Given the description of an element on the screen output the (x, y) to click on. 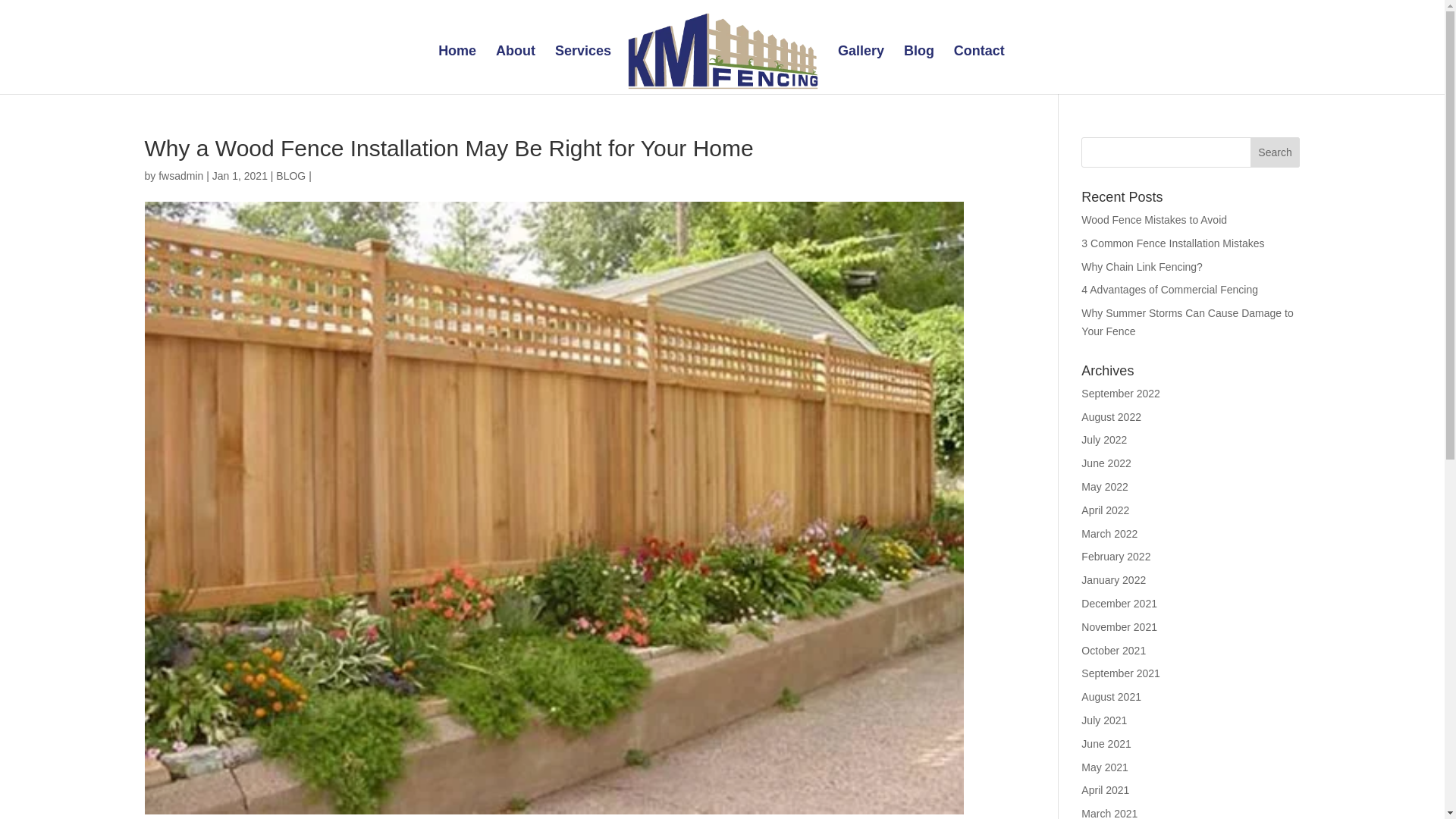
4 Advantages of Commercial Fencing (1169, 289)
December 2021 (1119, 603)
September 2021 (1120, 673)
May 2022 (1103, 486)
November 2021 (1119, 626)
Contact (978, 69)
March 2021 (1109, 813)
Wood Fence Mistakes to Avoid (1154, 219)
June 2021 (1106, 743)
Gallery (860, 69)
Why Chain Link Fencing? (1141, 266)
March 2022 (1109, 533)
Posts by fwsadmin (180, 175)
August 2022 (1111, 417)
July 2022 (1103, 439)
